Given the description of an element on the screen output the (x, y) to click on. 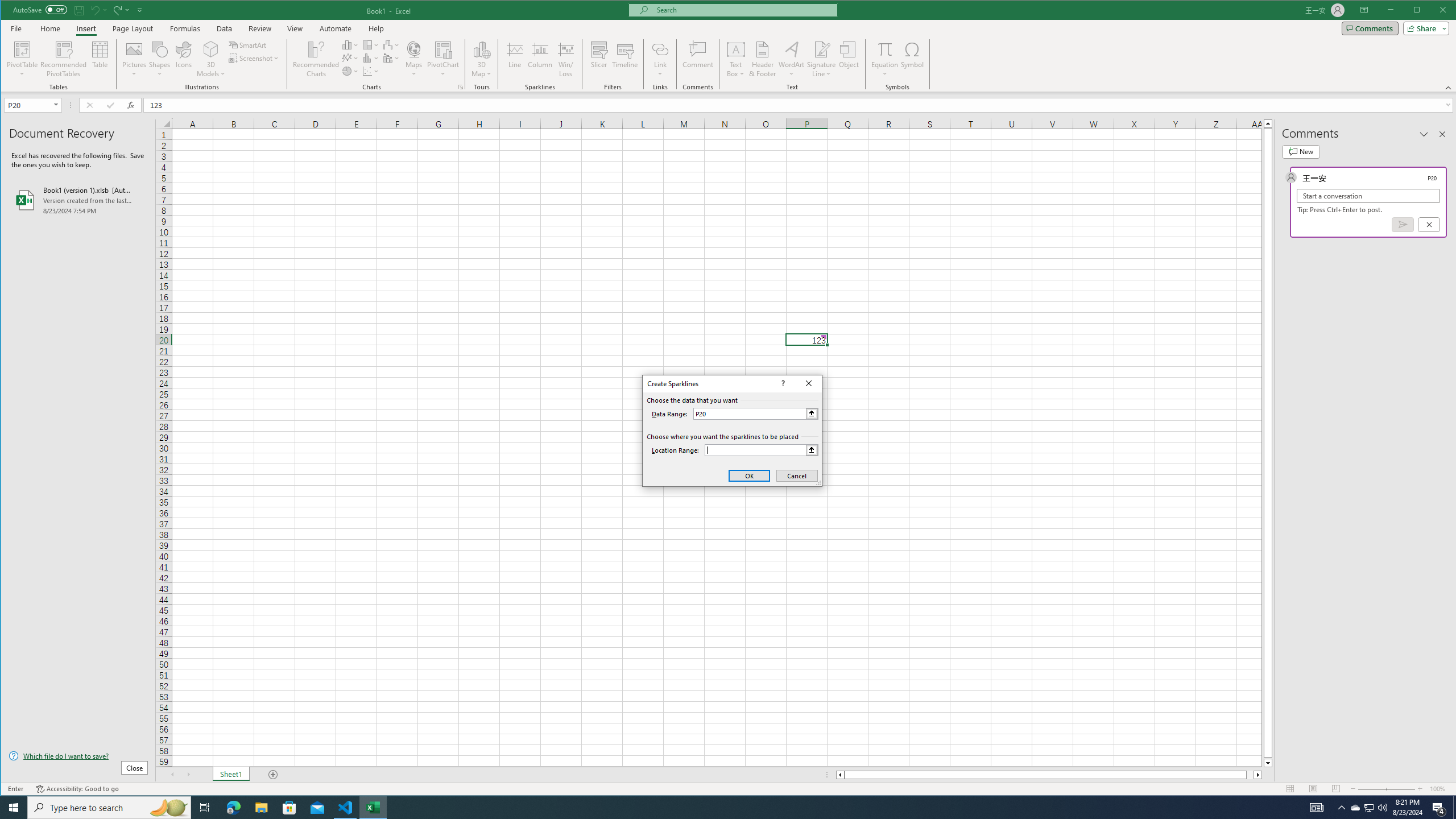
AutomationID: 4105 (1316, 807)
User Promoted Notification Area (1368, 807)
3D Models (211, 59)
Insert Pie or Doughnut Chart (350, 70)
Timeline (1368, 807)
PivotTable (625, 59)
Notification Chevron (22, 59)
